Given the description of an element on the screen output the (x, y) to click on. 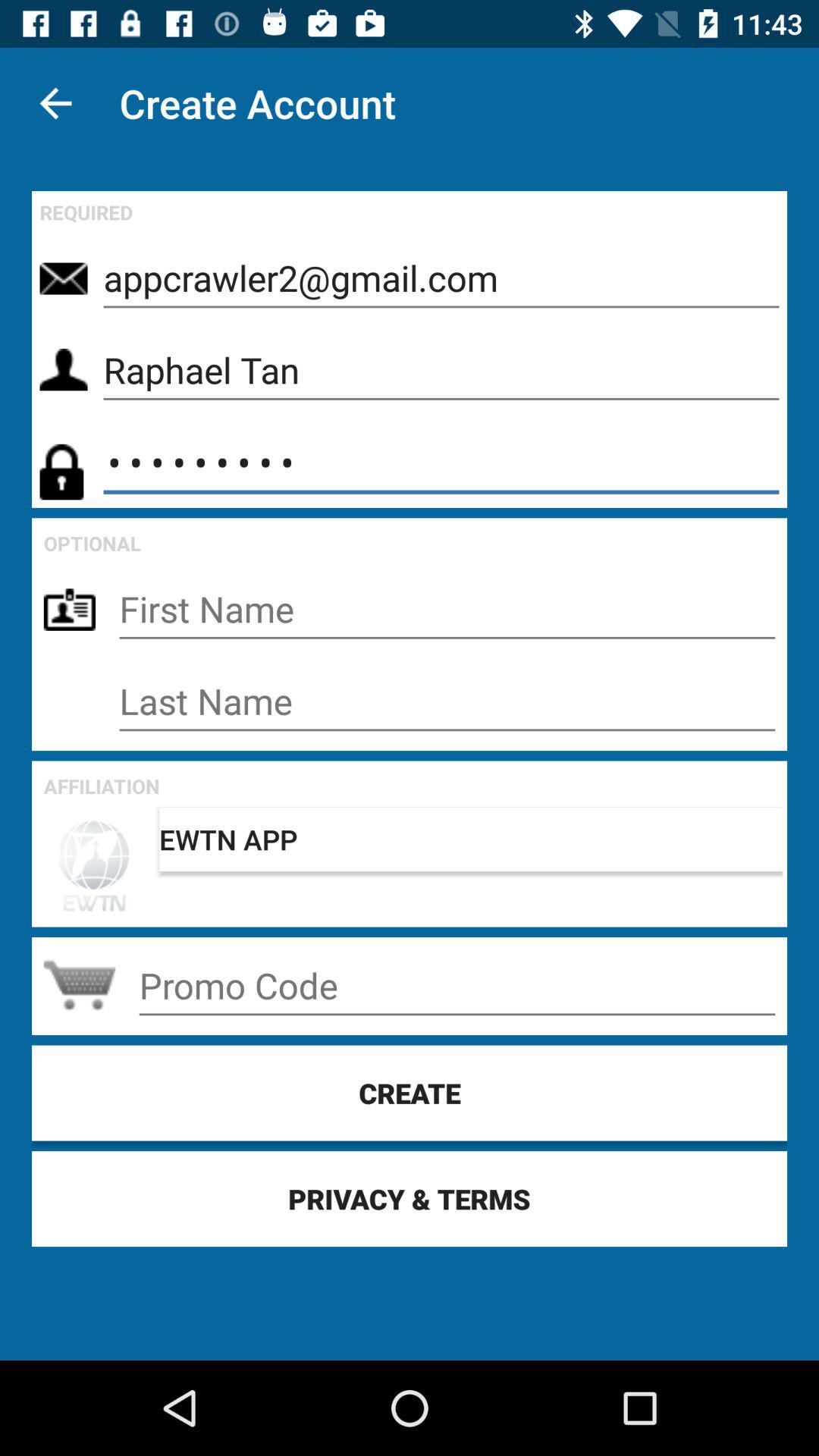
launch the privacy & terms (409, 1198)
